Given the description of an element on the screen output the (x, y) to click on. 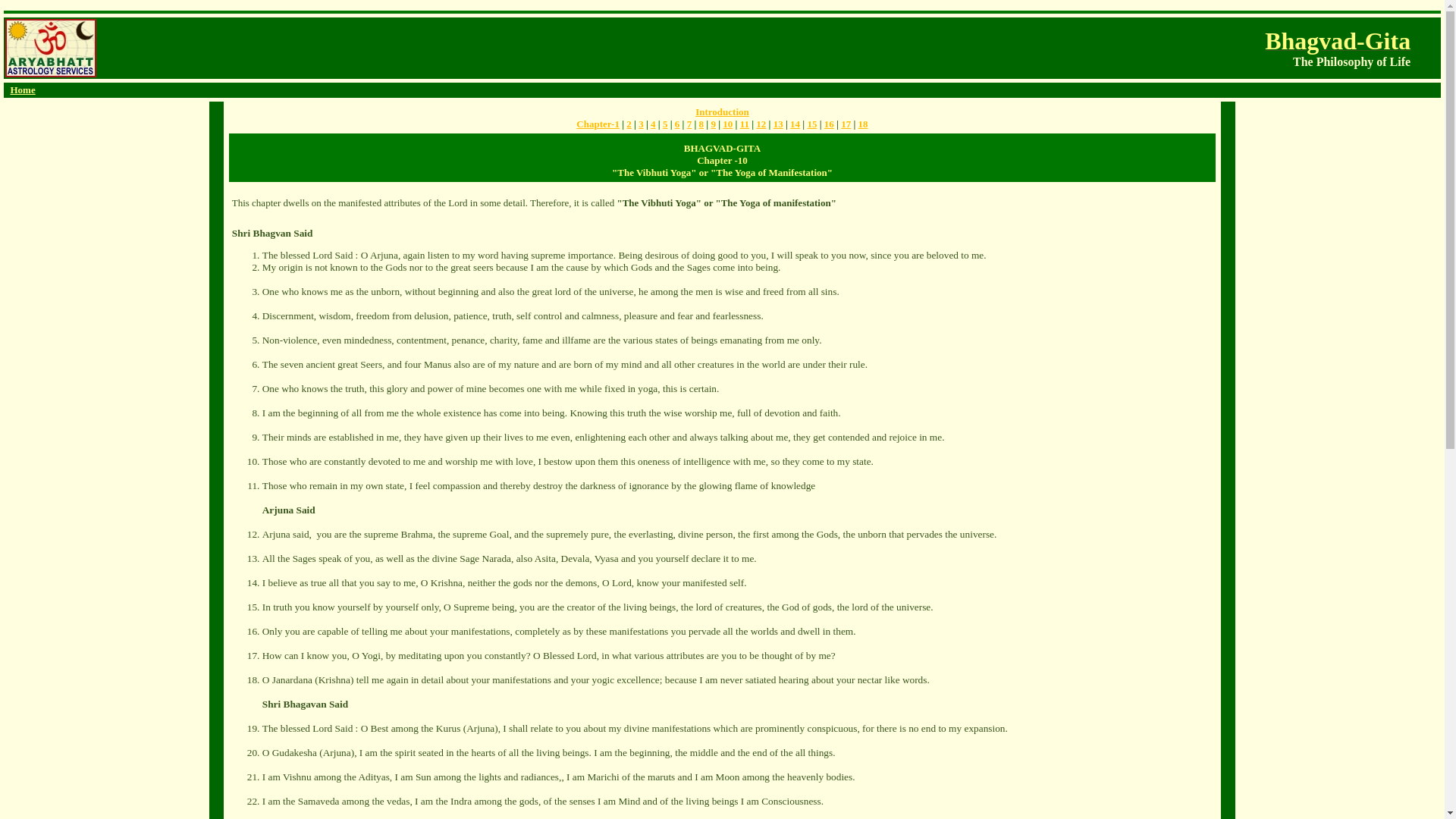
Introduction (722, 111)
Chapter-1 (598, 123)
Home (22, 89)
